Given the description of an element on the screen output the (x, y) to click on. 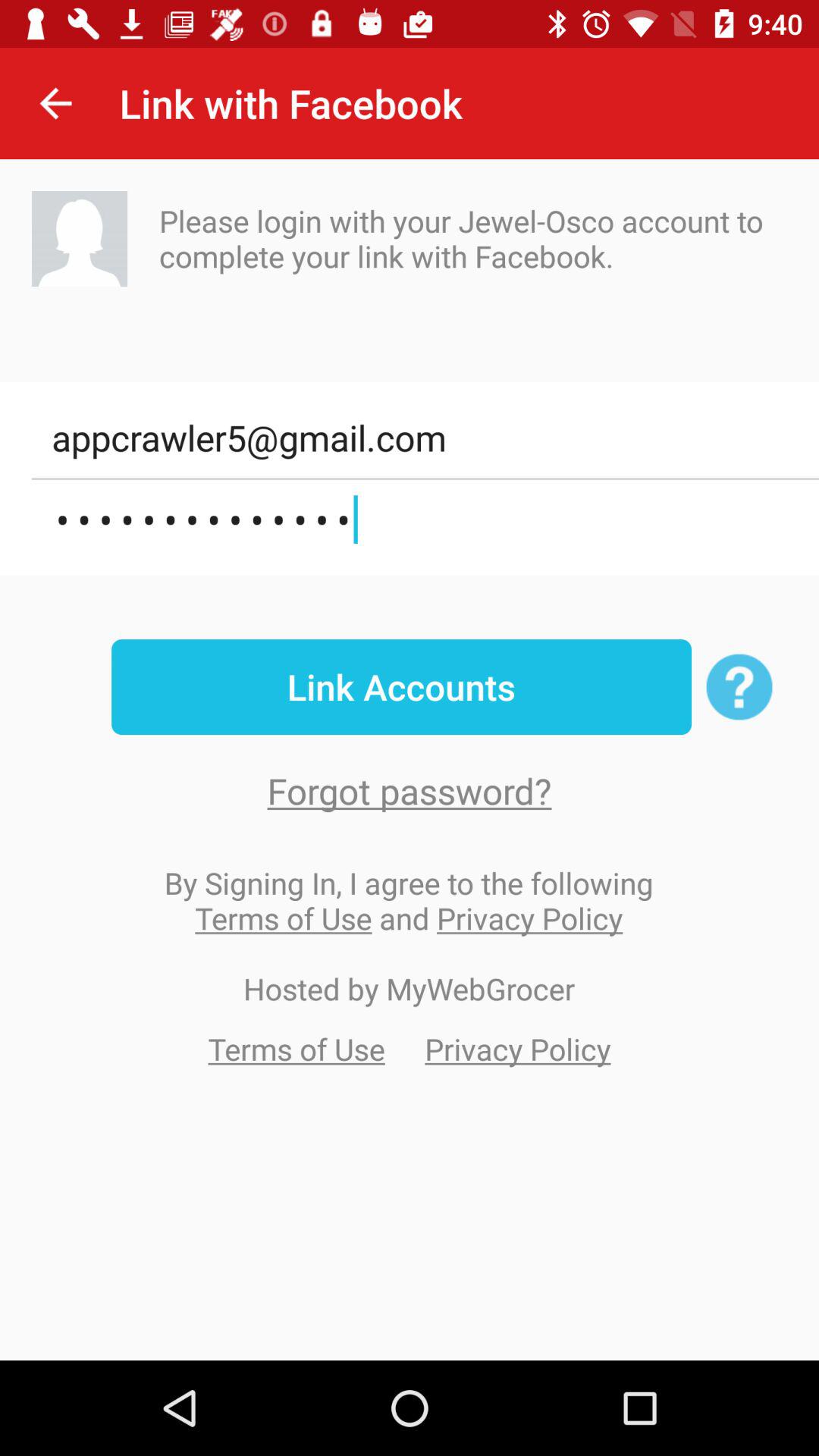
open item above forgot password? item (401, 686)
